Given the description of an element on the screen output the (x, y) to click on. 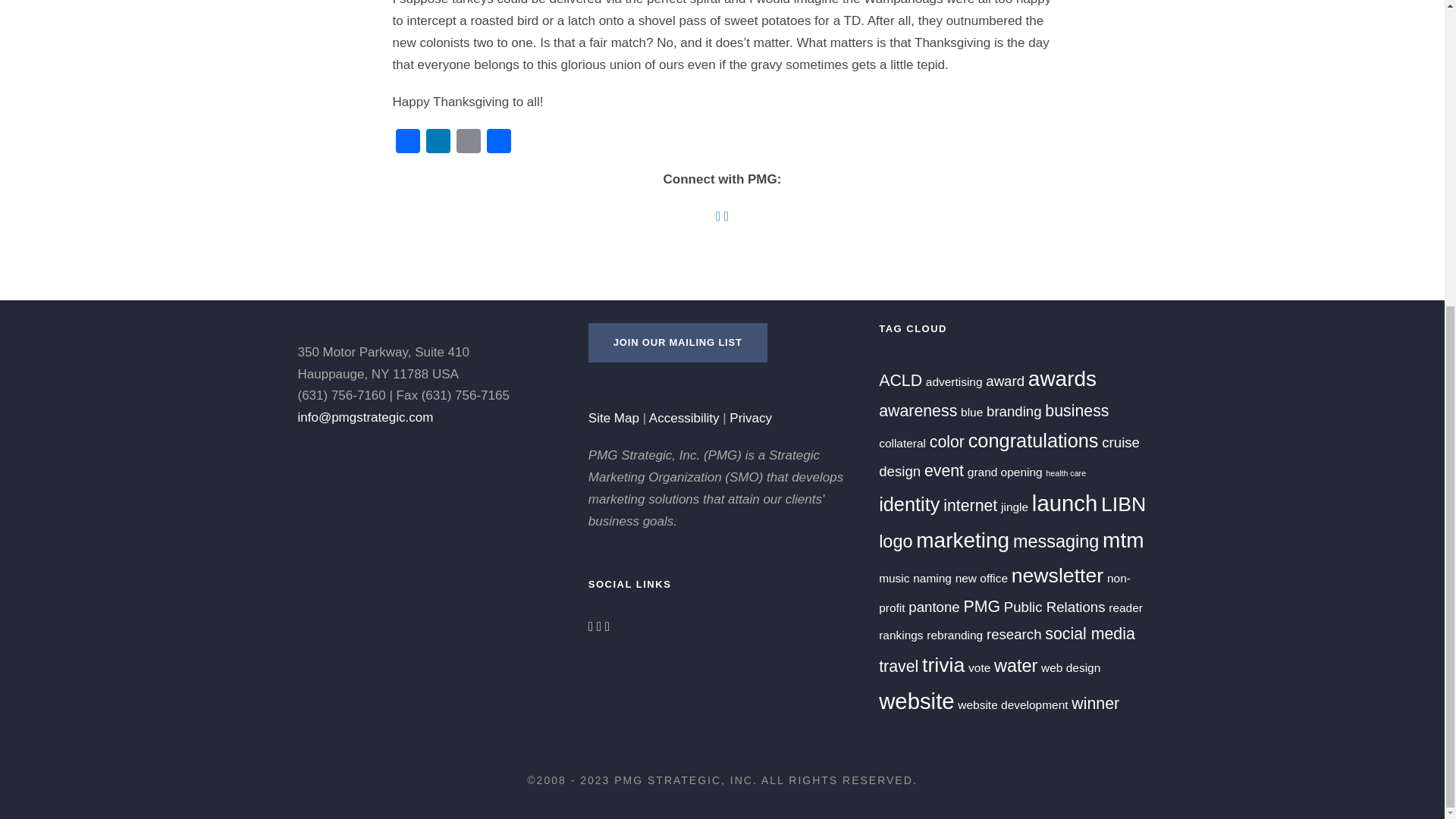
Email (467, 142)
Facebook (408, 142)
Email (467, 142)
LinkedIn (437, 142)
Share (498, 142)
Facebook (408, 142)
LinkedIn (437, 142)
